Given the description of an element on the screen output the (x, y) to click on. 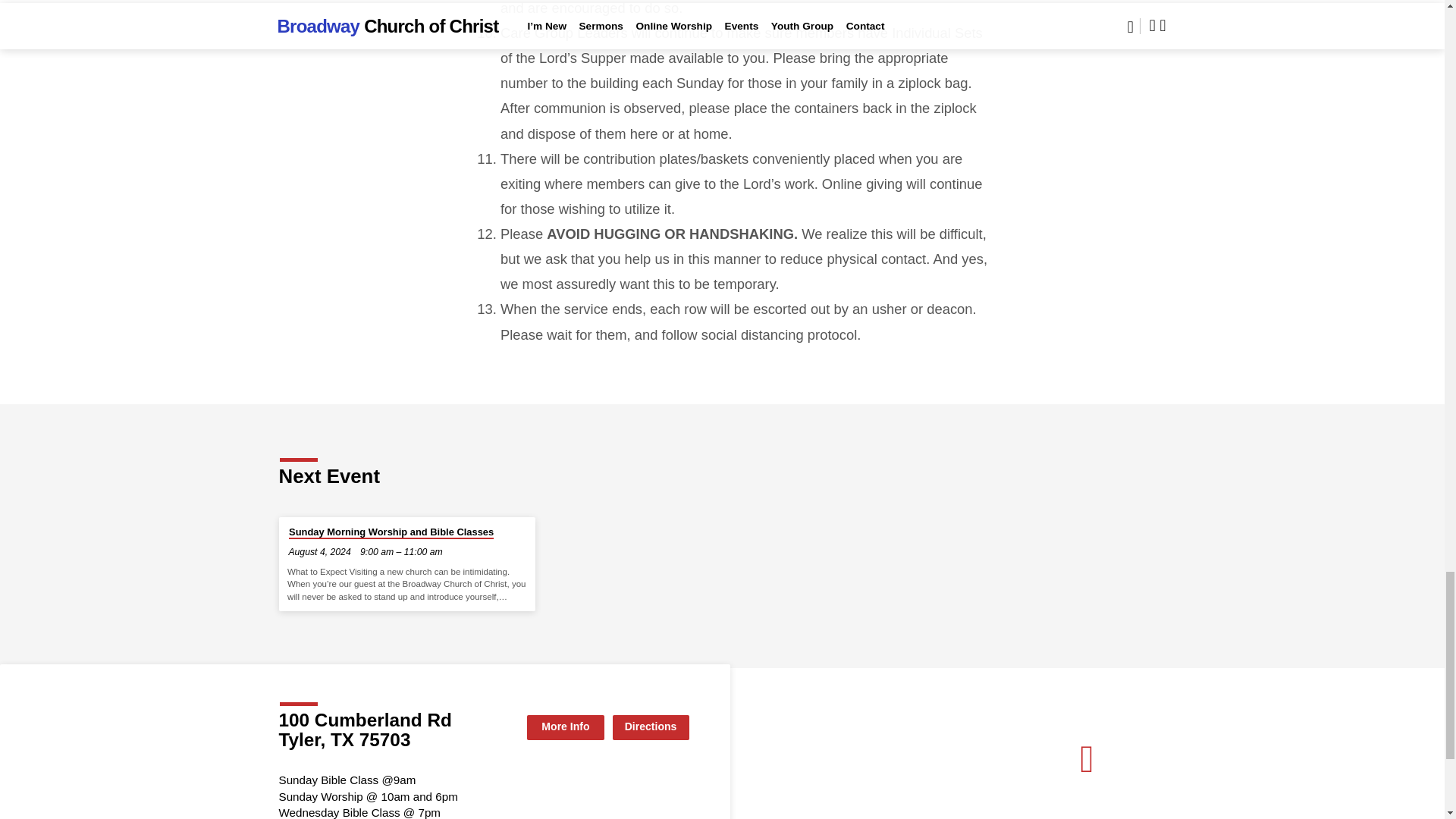
More Info (565, 727)
Sunday Morning Worship and Bible Classes (390, 532)
Sunday Morning Worship and Bible Classes (390, 532)
Directions (650, 727)
